Given the description of an element on the screen output the (x, y) to click on. 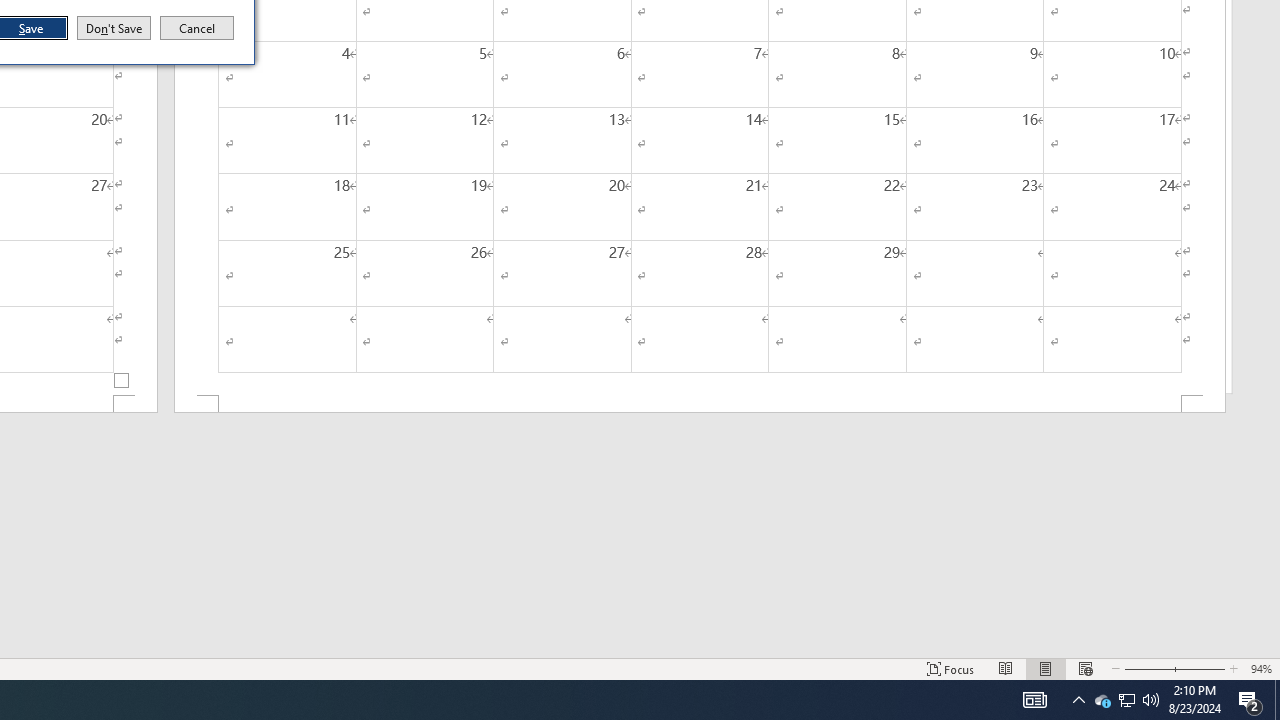
AutomationID: 4105 (1034, 699)
Zoom In (1126, 699)
Read Mode (1102, 699)
Web Layout (1199, 668)
